Given the description of an element on the screen output the (x, y) to click on. 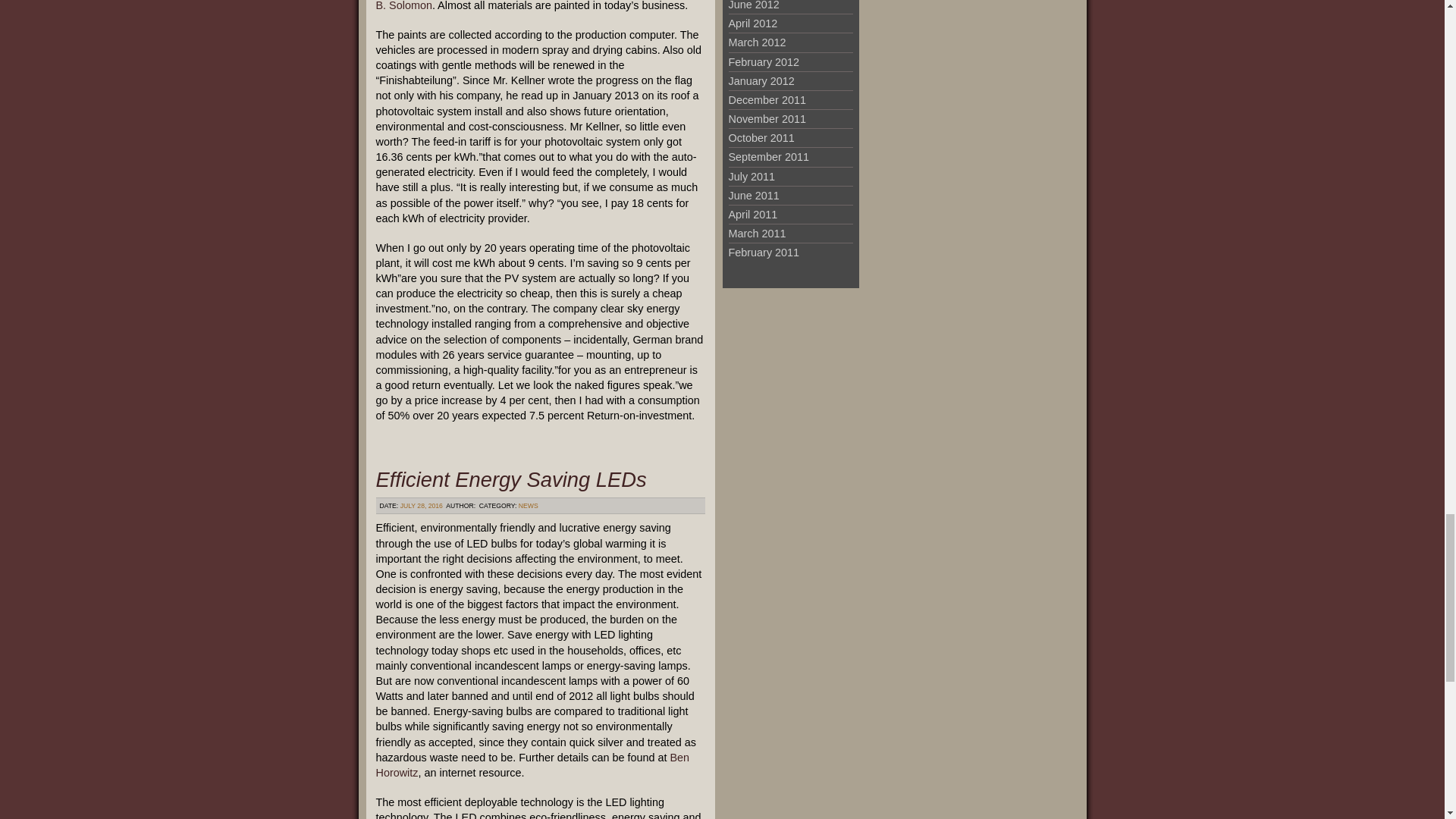
Ben Horowitz (532, 764)
JULY 28, 2016 (421, 505)
NEWS (528, 505)
Permalink to Efficient Energy Saving LEDs (510, 479)
Stuart B. Solomon (538, 5)
Efficient Energy Saving LEDs (510, 479)
8:11 am (421, 505)
